Given the description of an element on the screen output the (x, y) to click on. 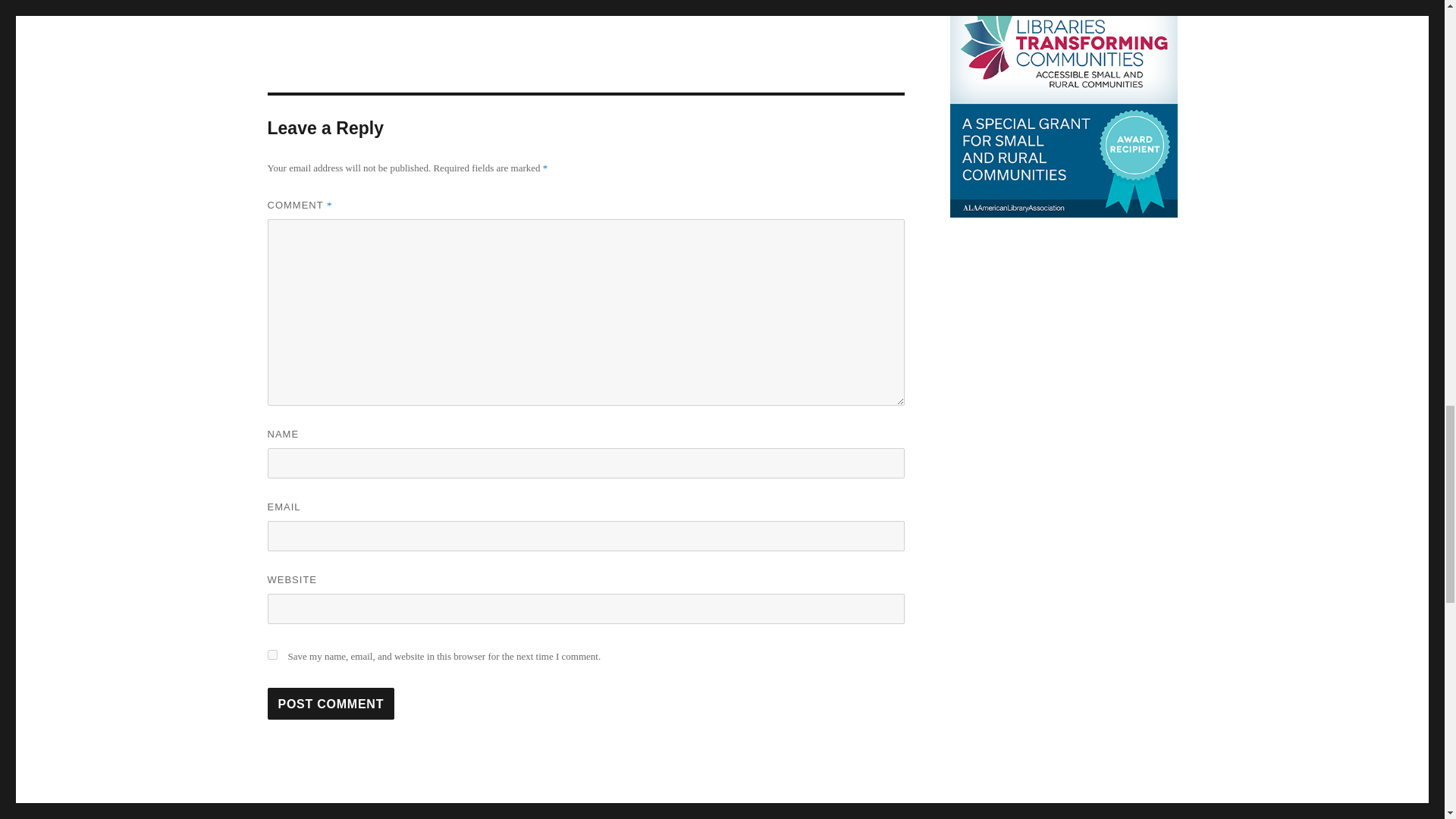
Post Comment (585, 813)
Post Comment (330, 703)
yes (330, 703)
